Given the description of an element on the screen output the (x, y) to click on. 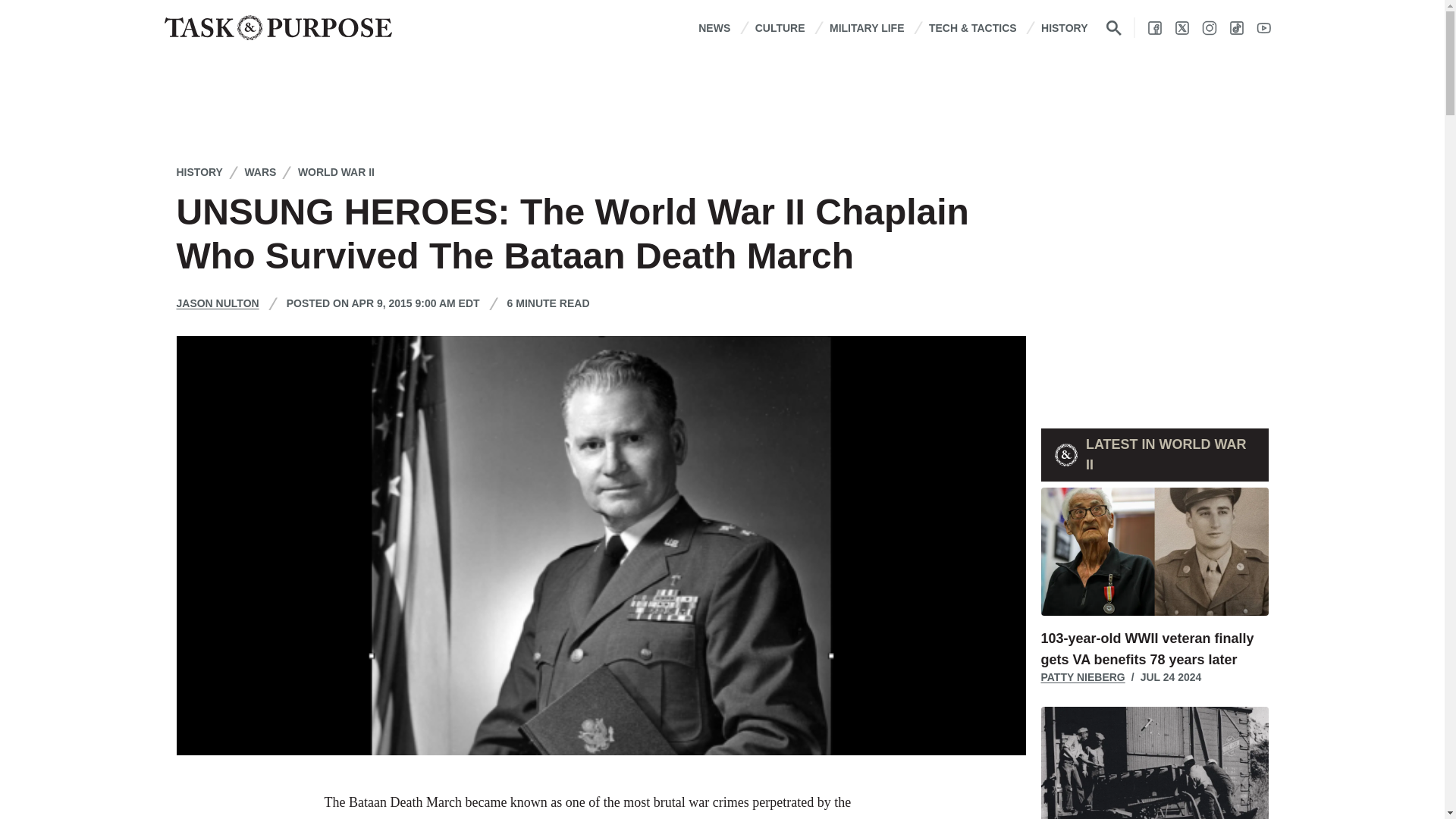
CULTURE (780, 27)
NEWS (714, 27)
MILITARY LIFE (866, 27)
